Given the description of an element on the screen output the (x, y) to click on. 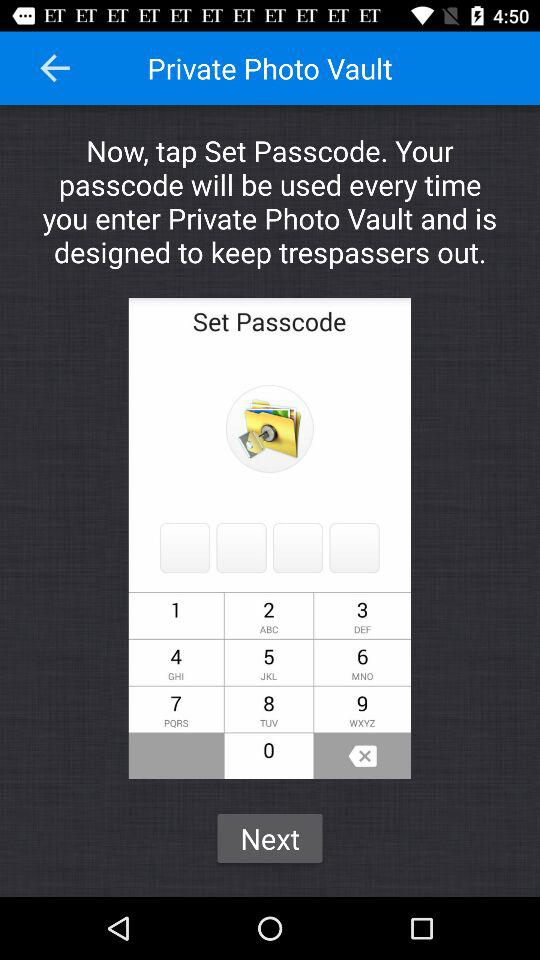
flip until the next item (269, 837)
